Given the description of an element on the screen output the (x, y) to click on. 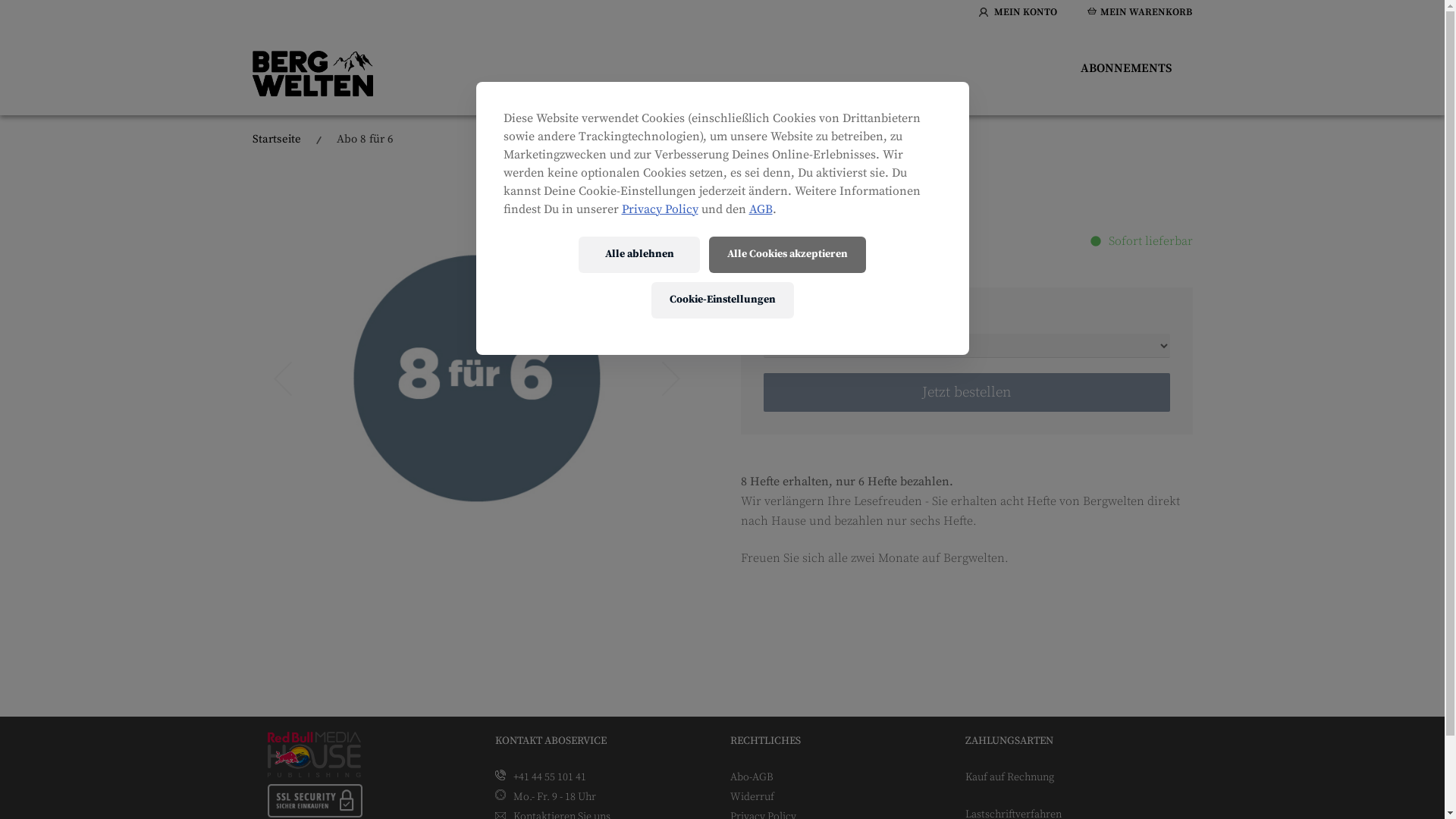
Alle ablehnen Element type: text (638, 254)
Cookie-Einstellungen Element type: text (721, 300)
MEIN KONTO Element type: text (1017, 13)
ABONNEMENTS Element type: text (1126, 67)
home Element type: hover (313, 773)
Jetzt bestellen Element type: text (966, 392)
Alle Cookies akzeptieren Element type: text (787, 254)
Widerruf Element type: text (751, 796)
Startseite Element type: text (275, 139)
MEIN WARENKORB Element type: text (1139, 13)
Privacy Policy Element type: text (659, 208)
Abo-AGB Element type: text (750, 777)
AGB Element type: text (760, 208)
